Given the description of an element on the screen output the (x, y) to click on. 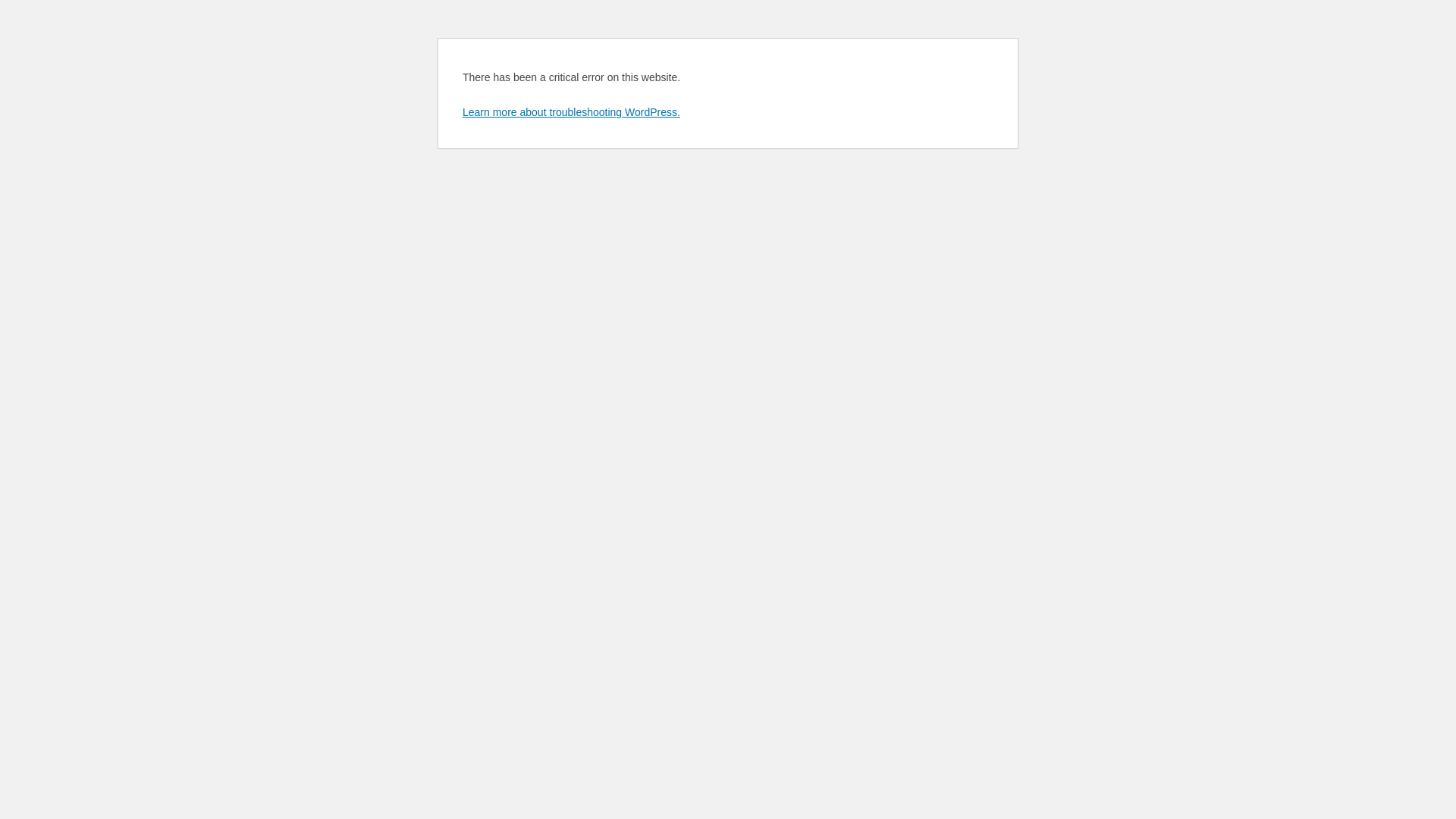
Learn more about troubleshooting WordPress. Element type: text (571, 112)
